Given the description of an element on the screen output the (x, y) to click on. 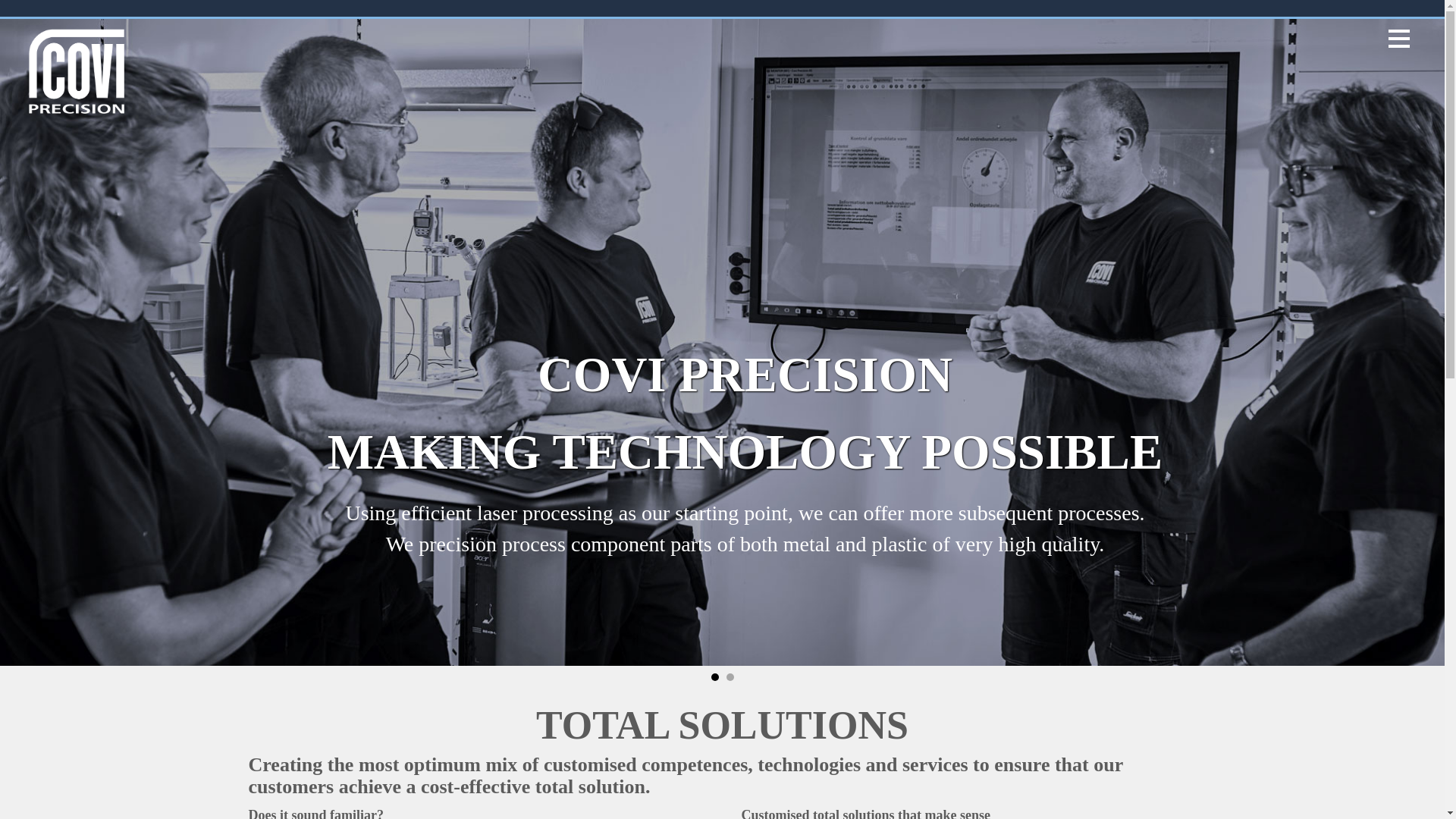
HOME (275, 6)
QUALITY ASSURANCE (592, 6)
PROCESS DEVELOPMENT (769, 6)
DOWNLOAD (1008, 6)
VIDEO (1087, 6)
2 (729, 676)
1 (715, 676)
INDUSTRIES (911, 6)
CONTACT (1157, 6)
COMPETENCIES (448, 6)
